Given the description of an element on the screen output the (x, y) to click on. 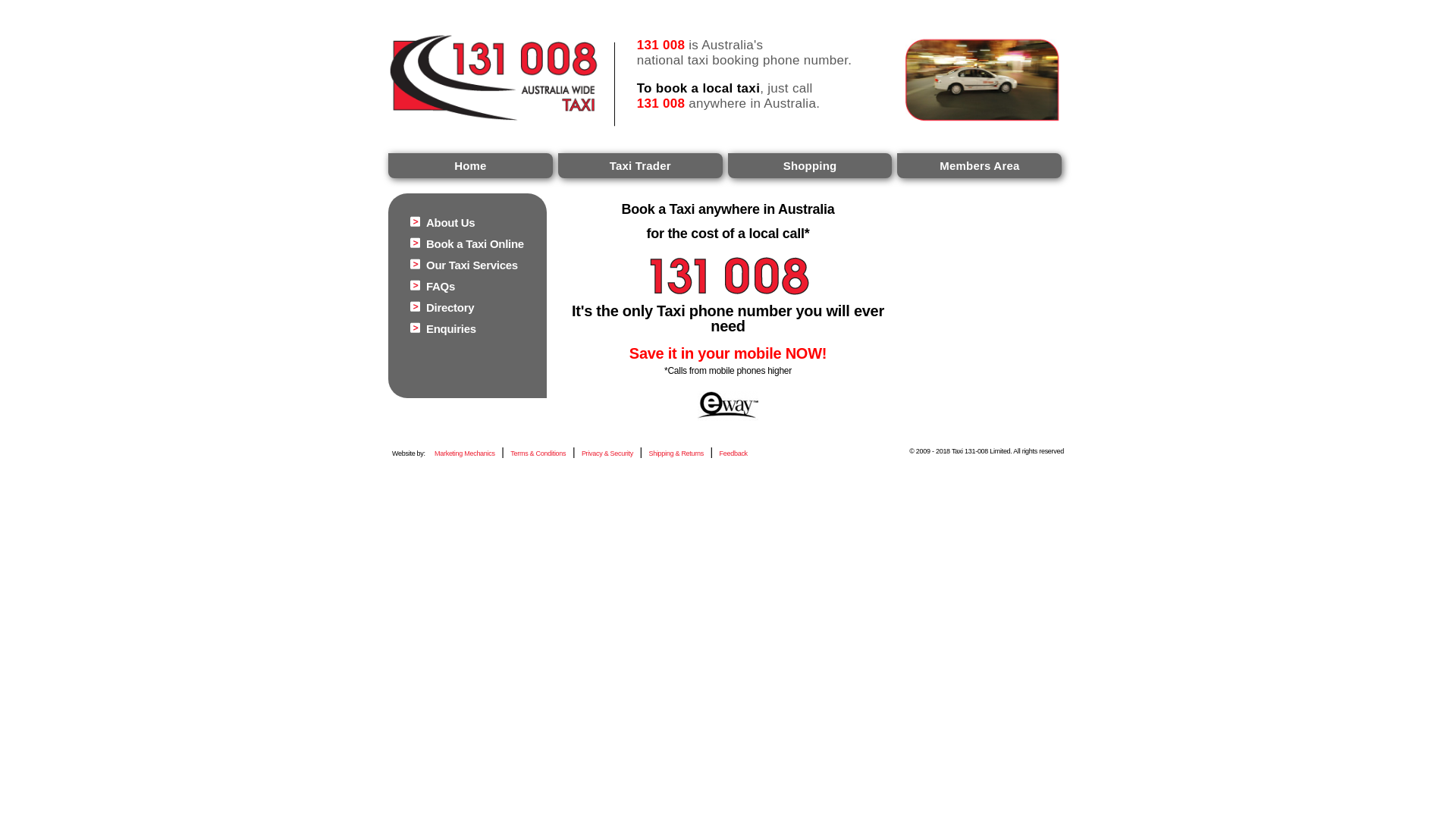
Enquiries Element type: text (451, 328)
Home Element type: text (470, 165)
Privacy & Security Element type: text (607, 453)
Directory Element type: text (449, 307)
Feedback Element type: text (733, 453)
Our Taxi Services Element type: text (471, 264)
FAQs Element type: text (440, 285)
Shipping & Returns Element type: text (675, 453)
Book a Taxi Online Element type: text (475, 243)
Marketing Mechanics Element type: text (464, 453)
Shopping Element type: text (810, 165)
Members Area Element type: text (979, 165)
Terms & Conditions Element type: text (537, 453)
About Us Element type: text (450, 222)
Taxi Trader Element type: text (640, 165)
